Given the description of an element on the screen output the (x, y) to click on. 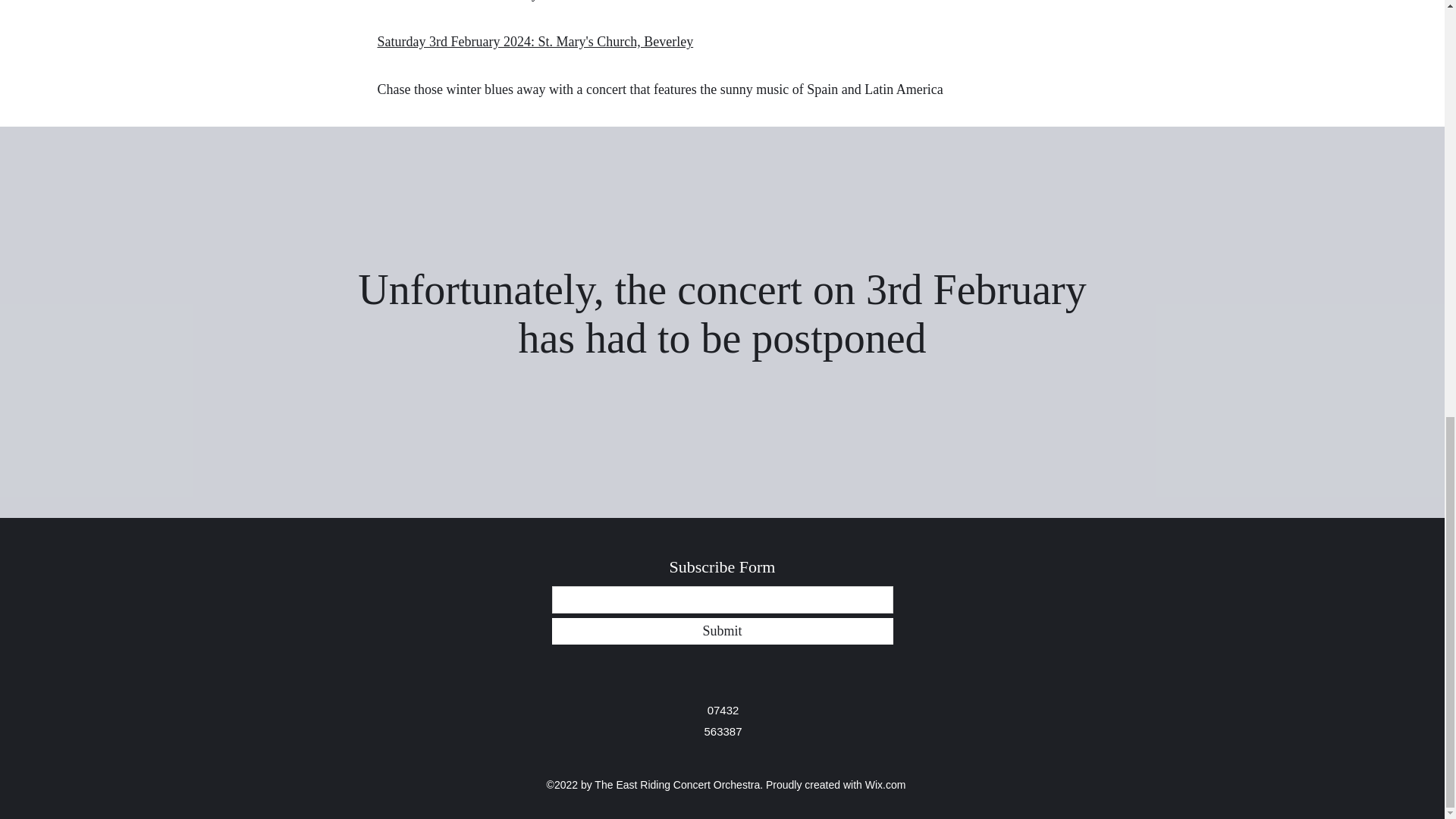
Submit (722, 631)
